Given the description of an element on the screen output the (x, y) to click on. 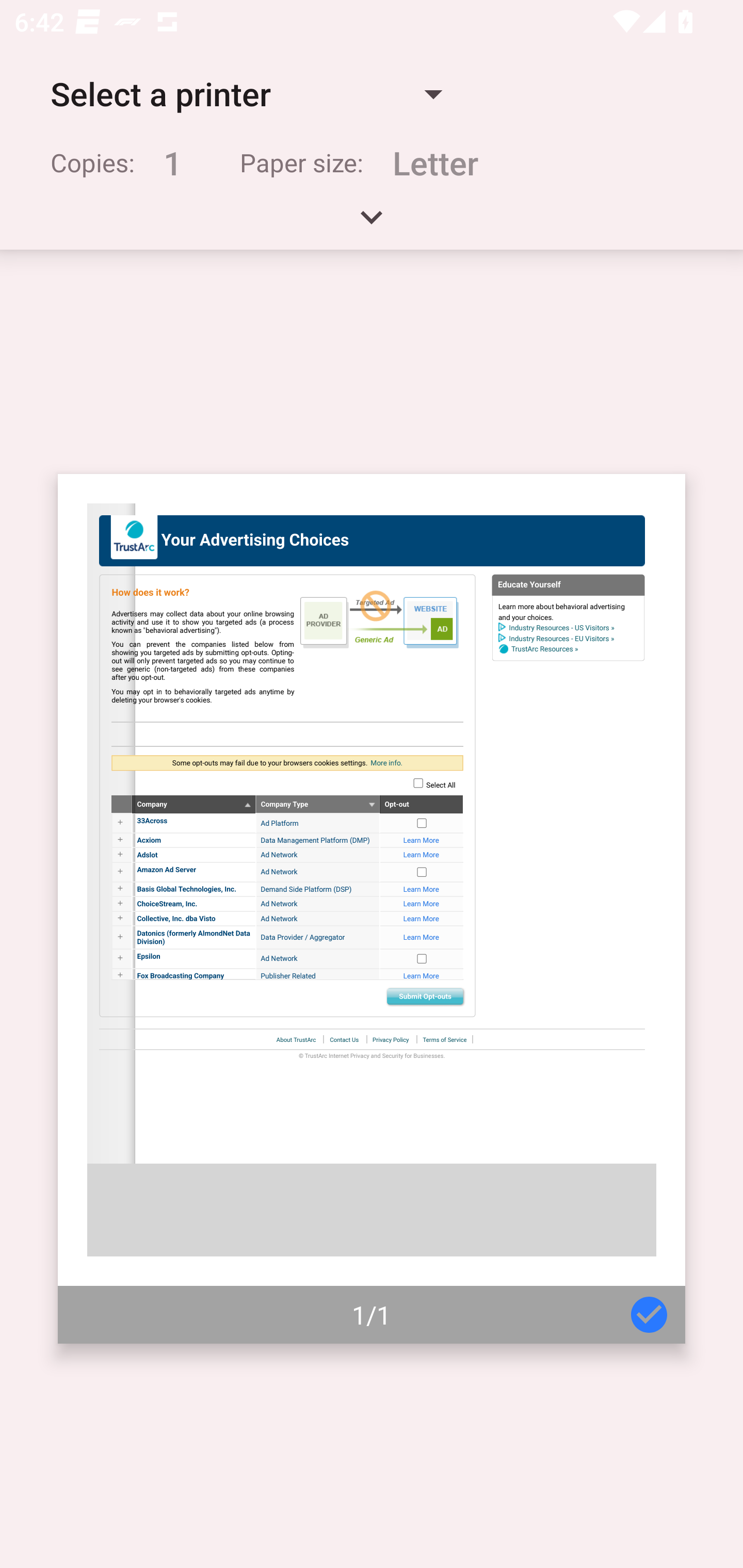
Select a printer (245, 93)
Expand handle (371, 224)
Page 1 of 1 1/1 (371, 908)
